Given the description of an element on the screen output the (x, y) to click on. 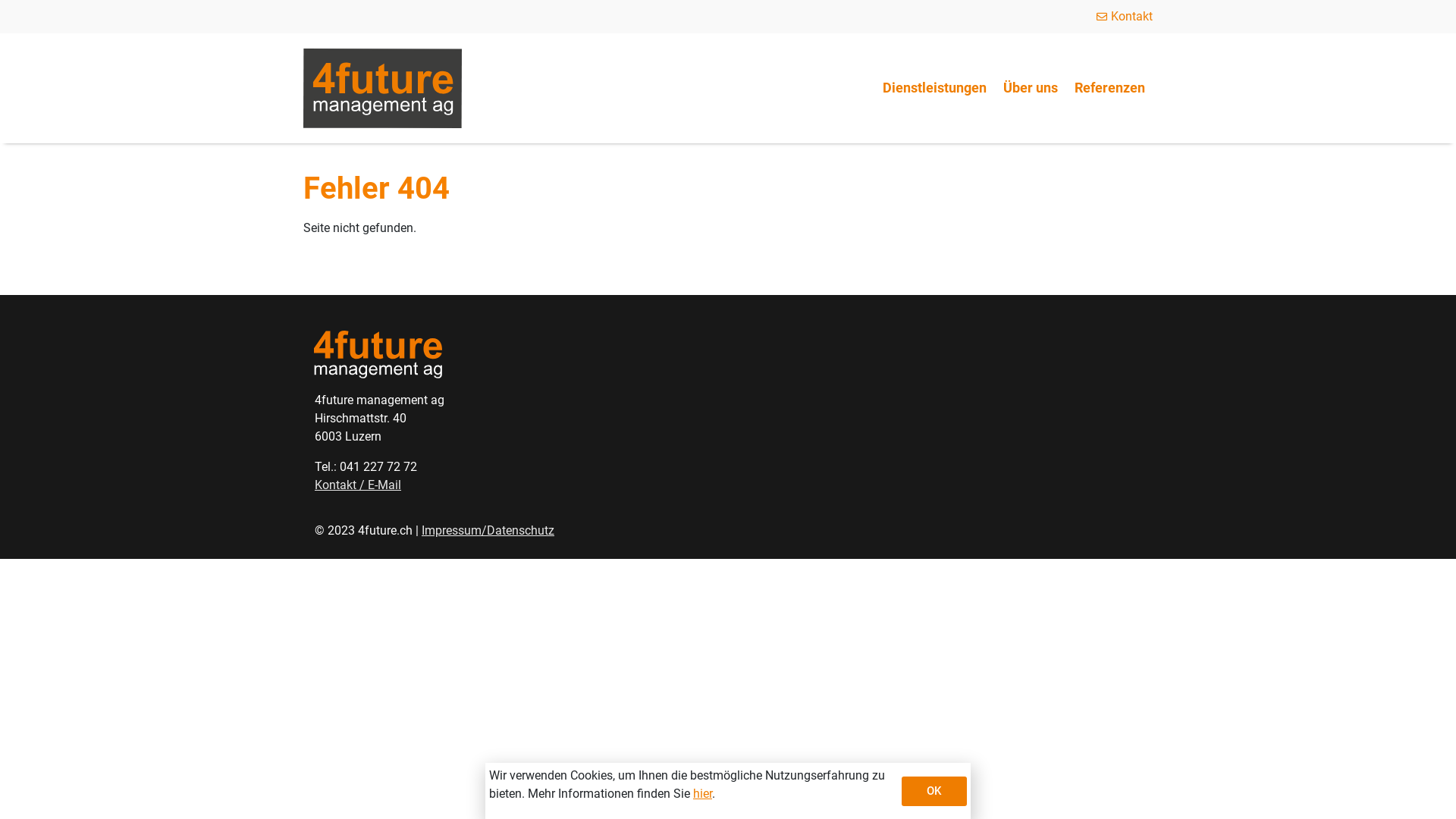
Impressum/Datenschutz Element type: text (487, 530)
Dienstleistungen Element type: text (934, 87)
OK Element type: text (933, 791)
Kontakt / E-Mail Element type: text (357, 484)
Kontakt Element type: text (1122, 16)
hier Element type: text (702, 793)
Referenzen Element type: text (1109, 87)
